Given the description of an element on the screen output the (x, y) to click on. 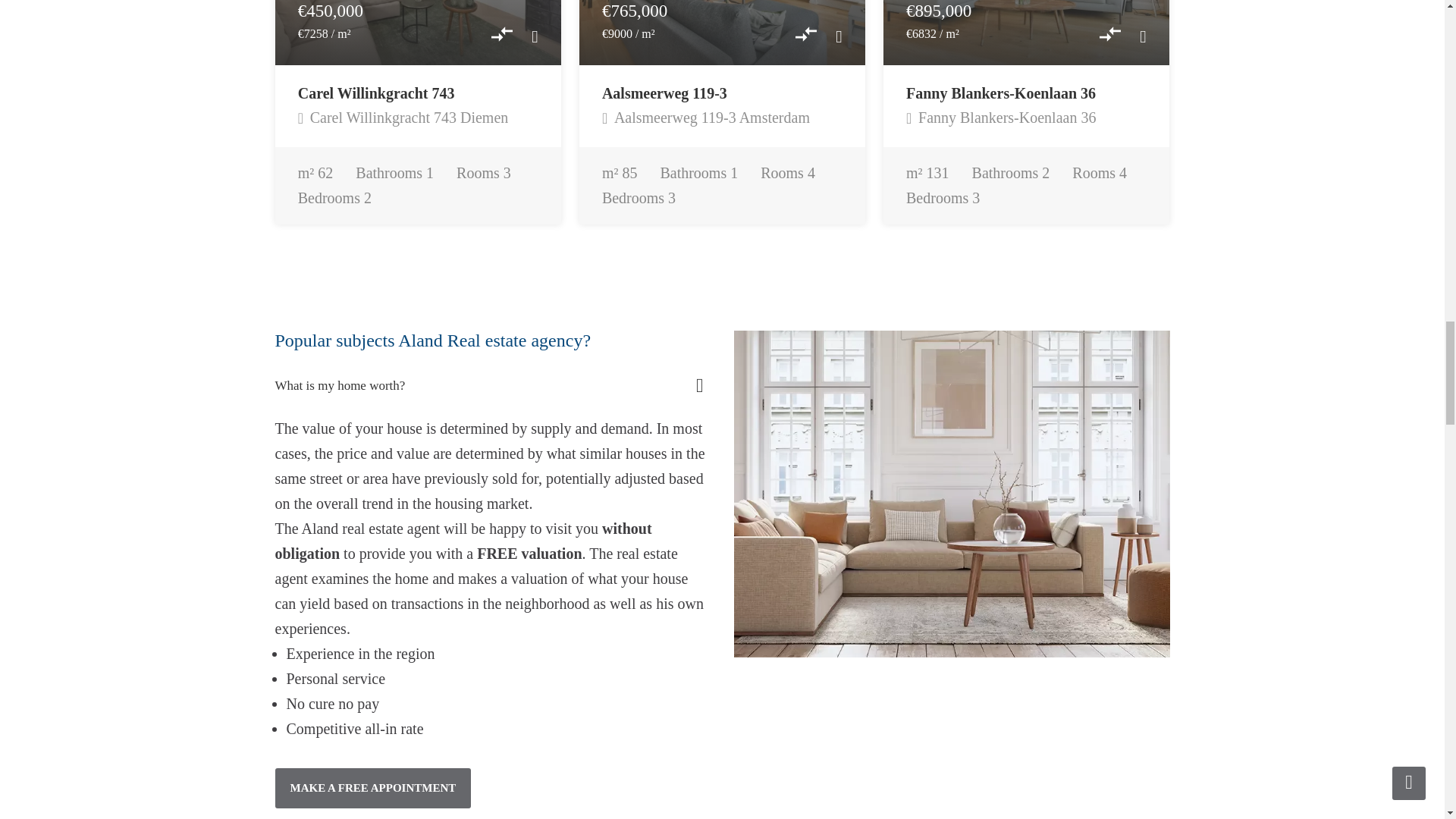
Carel Willinkgracht 743 (376, 93)
